Given the description of an element on the screen output the (x, y) to click on. 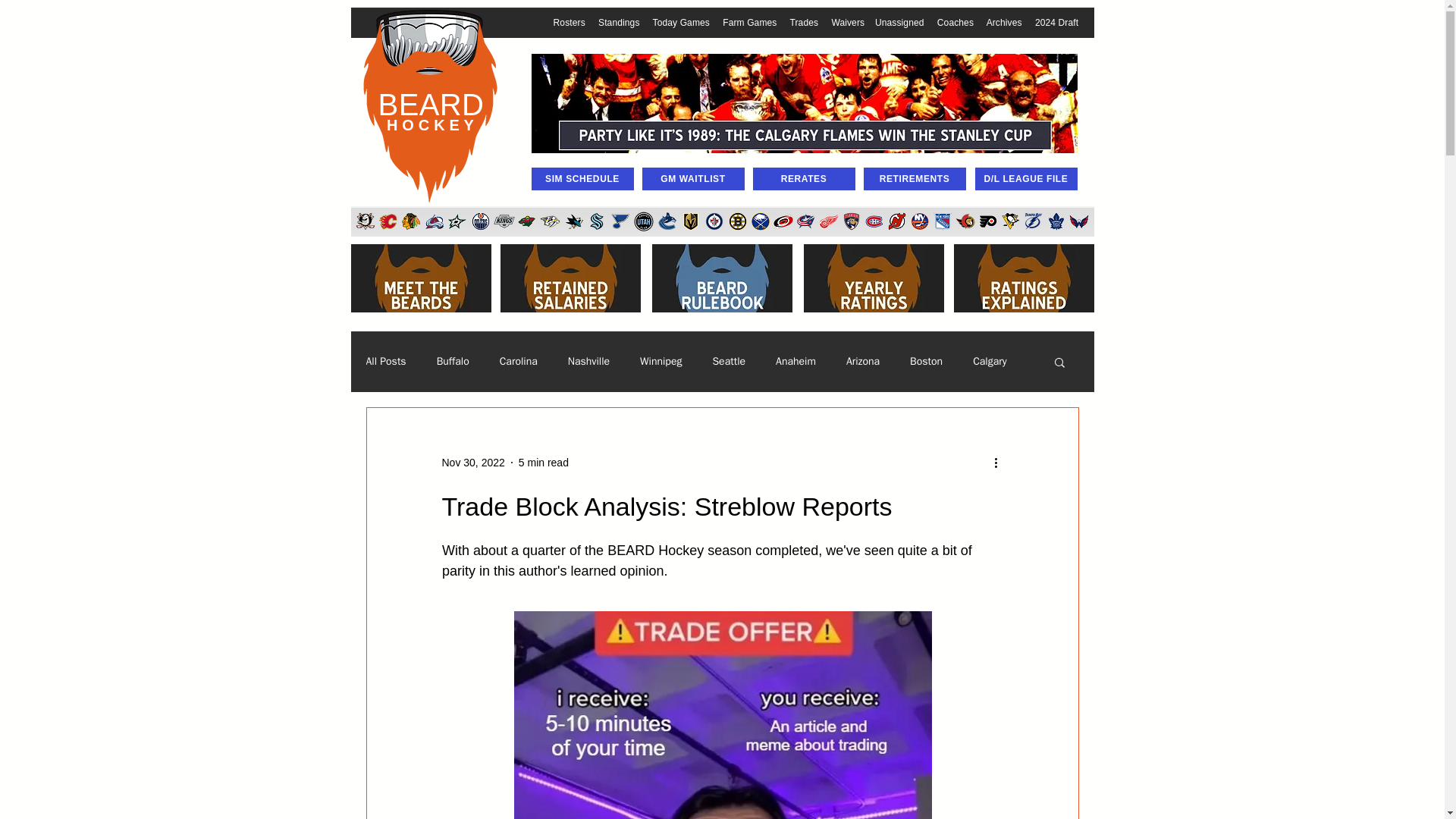
5 min read (543, 462)
Unassigned (899, 22)
2024 Draft (1056, 22)
Trades (803, 22)
BEARD (431, 104)
Standings (618, 22)
Coaches (955, 22)
RERATES (803, 178)
Farm Games (749, 22)
Rosters (569, 22)
